Given the description of an element on the screen output the (x, y) to click on. 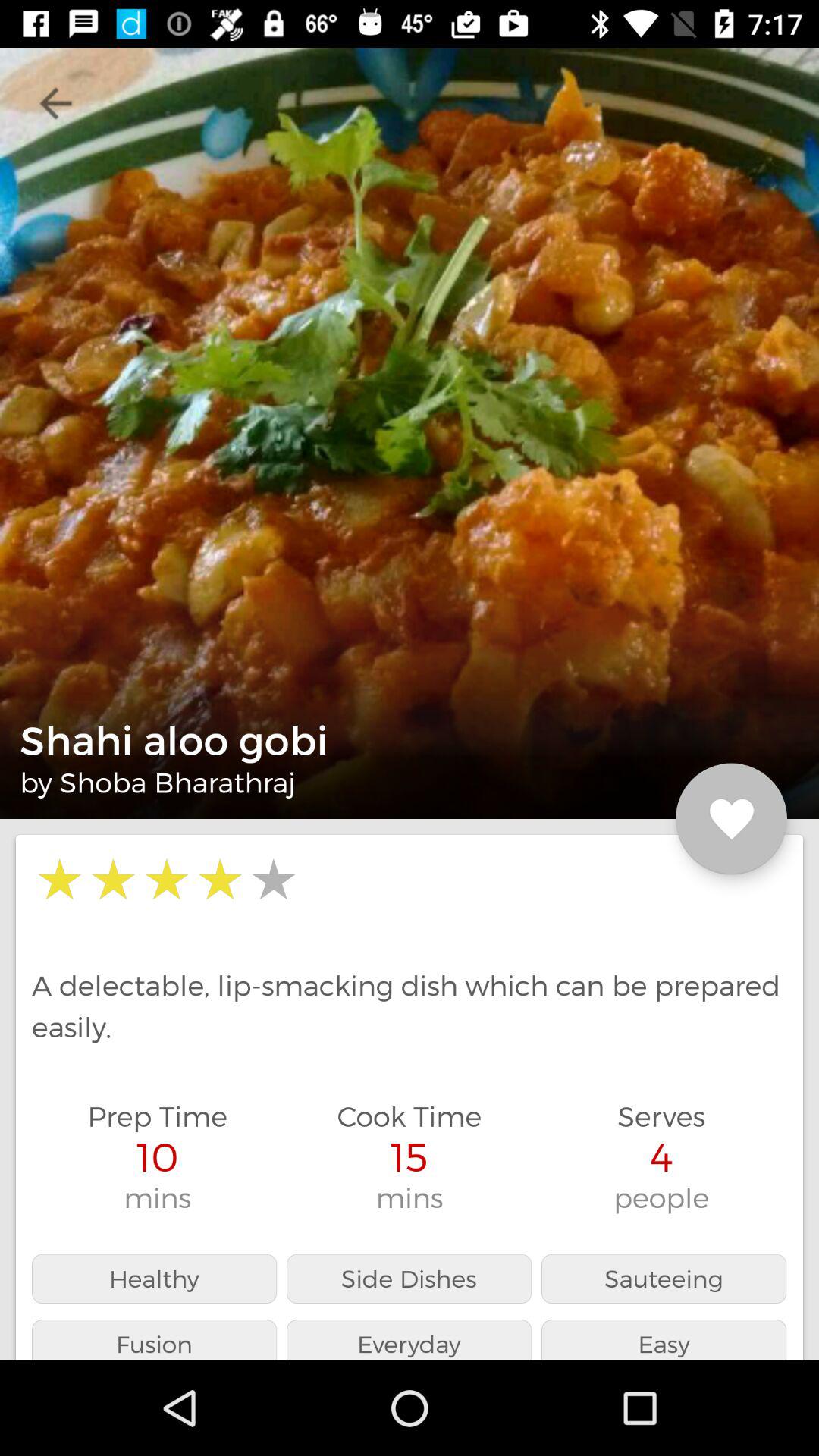
click icon next to shahi aloo gobi icon (731, 818)
